Given the description of an element on the screen output the (x, y) to click on. 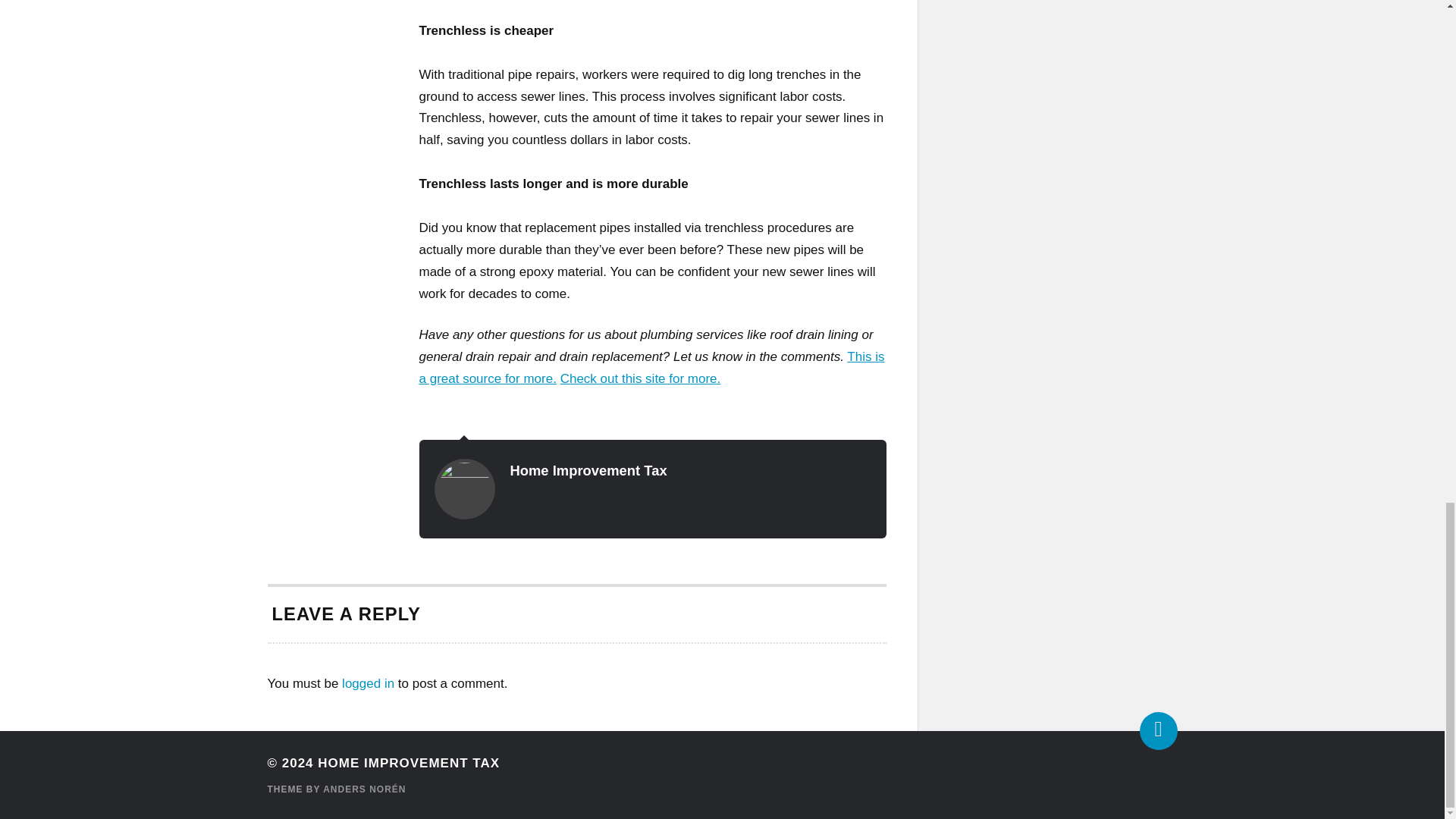
logged in (368, 683)
This is a great source for more. (651, 367)
HOME IMPROVEMENT TAX (408, 762)
Check out this site for more. (640, 378)
Trenchless pipe repair (640, 378)
Home Improvement Tax (587, 470)
Something similar (651, 367)
